Given the description of an element on the screen output the (x, y) to click on. 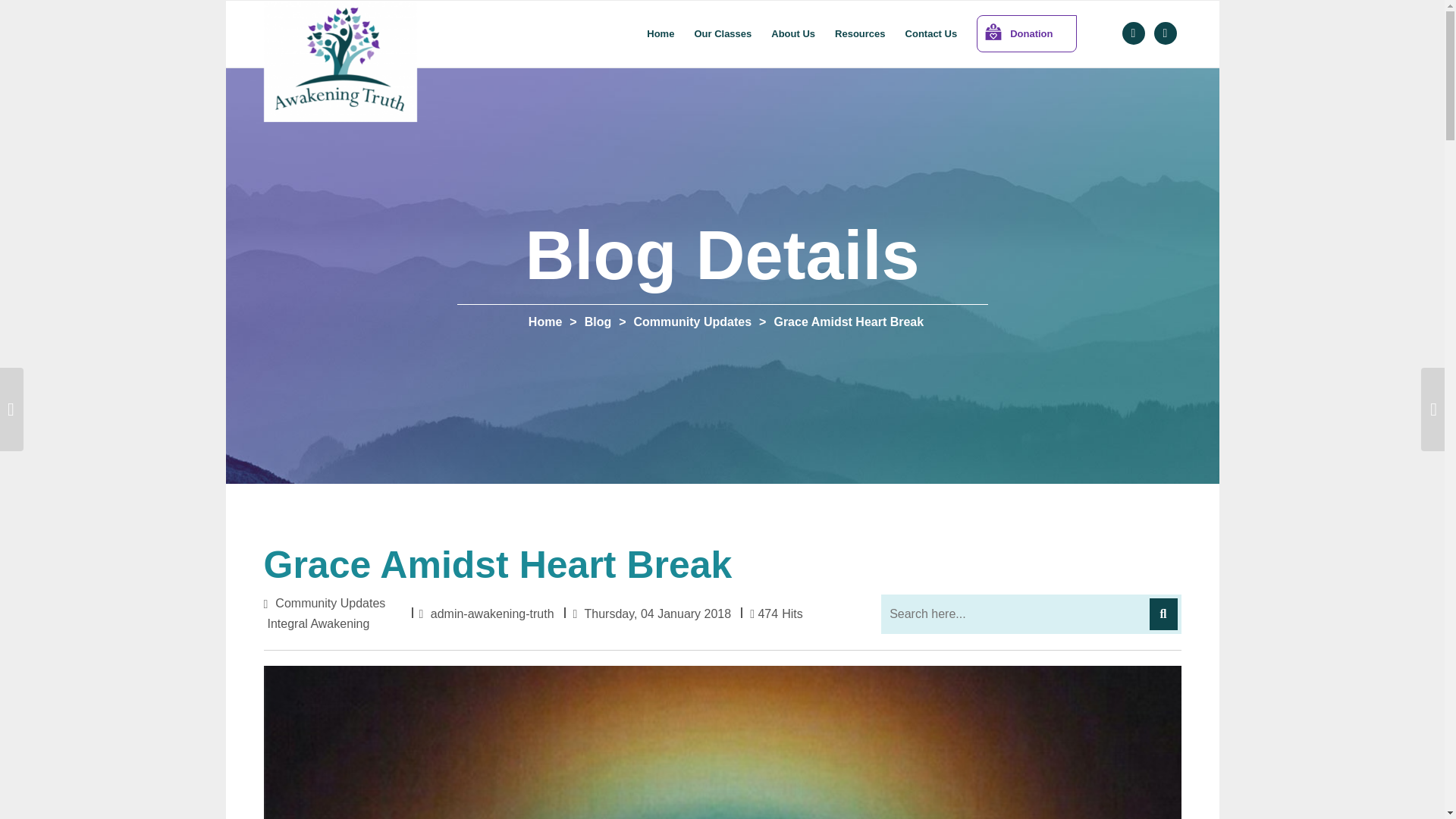
Contact Us (931, 33)
Go to Blog. (597, 321)
Our Classes (722, 33)
Home (545, 321)
Community Updates (692, 321)
Go to the Community Updates Category archives. (692, 321)
Go to Awakening Truth. (545, 321)
Community Updates (330, 603)
Integral Awakening (317, 623)
Blog (597, 321)
About Us (793, 33)
Resources (860, 33)
